Given the description of an element on the screen output the (x, y) to click on. 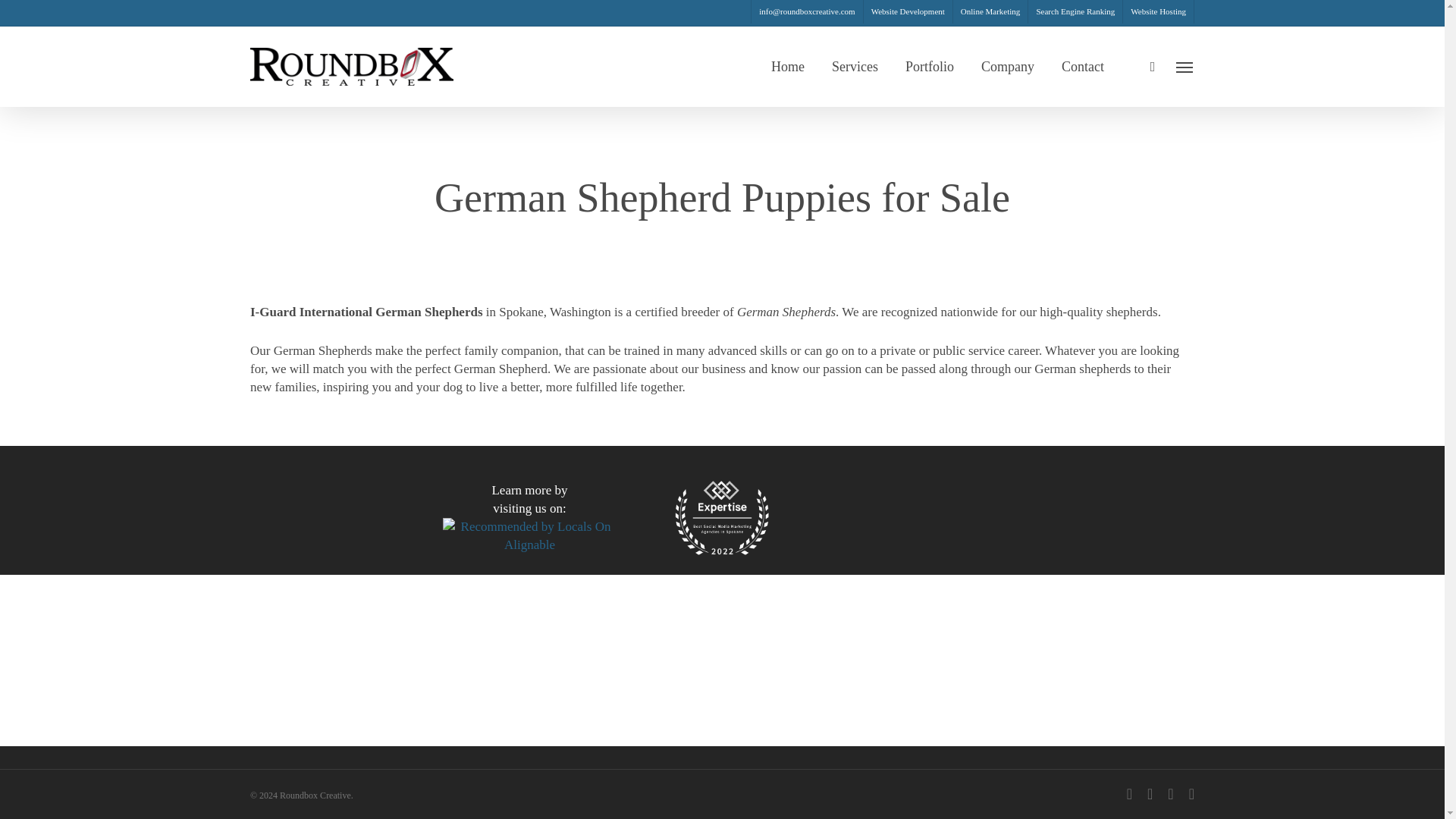
Portfolio (929, 66)
Services (854, 66)
Company (1007, 66)
Recommended by Locals On Alignable (528, 535)
google-plus (1170, 793)
Search Engine Ranking (1074, 11)
Website Development (907, 11)
Website Hosting (1157, 11)
facebook (1129, 793)
Online Marketing (989, 11)
search (1151, 66)
Home (788, 66)
linkedin (1150, 793)
Menu (1184, 66)
instagram (1191, 793)
